Given the description of an element on the screen output the (x, y) to click on. 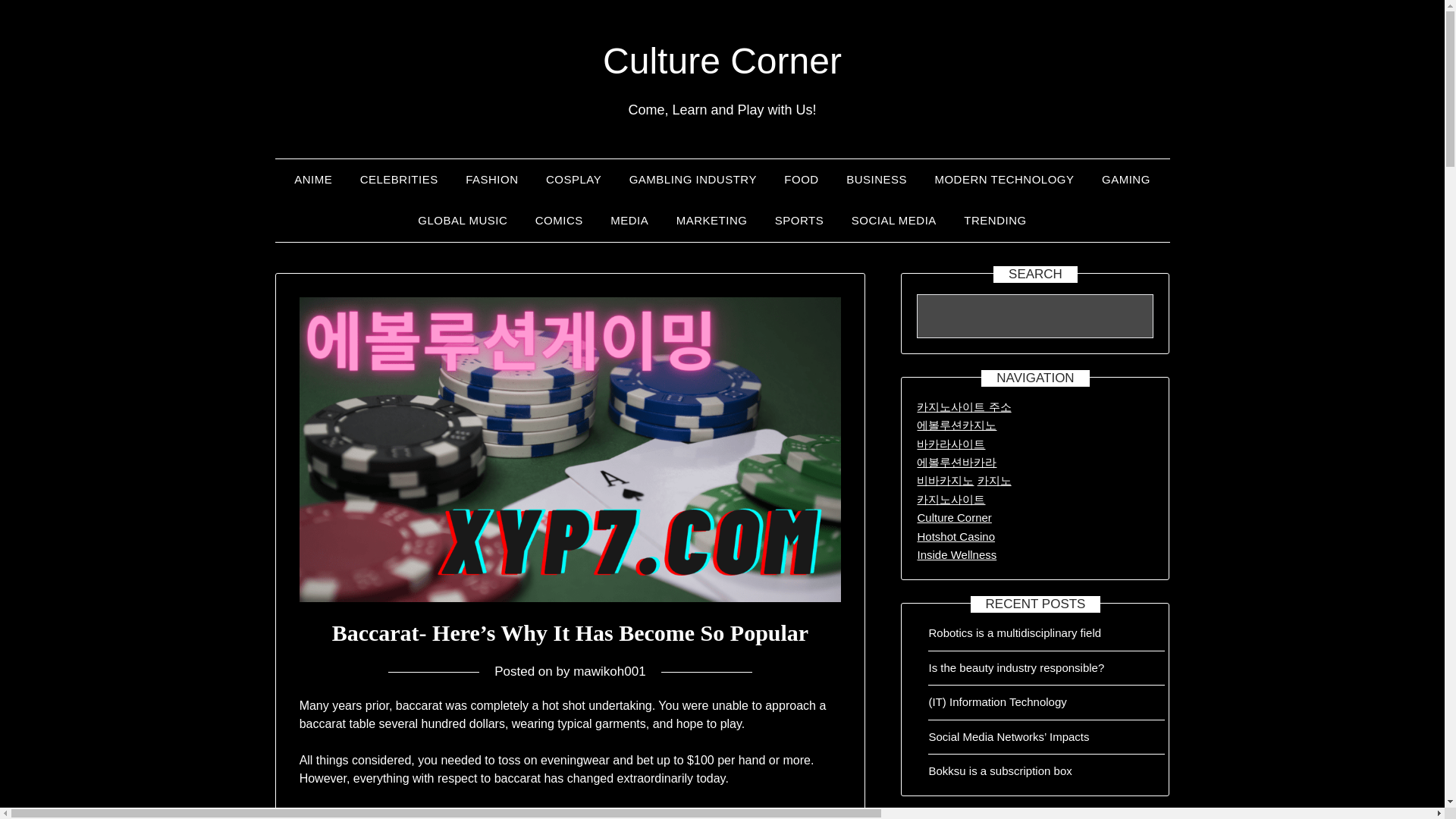
GLOBAL MUSIC (462, 219)
CELEBRITIES (398, 178)
GAMBLING INDUSTRY (692, 178)
Culture Corner (721, 60)
COSPLAY (573, 178)
ANIME (312, 178)
COMICS (558, 219)
FOOD (800, 178)
MEDIA (629, 219)
MODERN TECHNOLOGY (1003, 178)
